Given the description of an element on the screen output the (x, y) to click on. 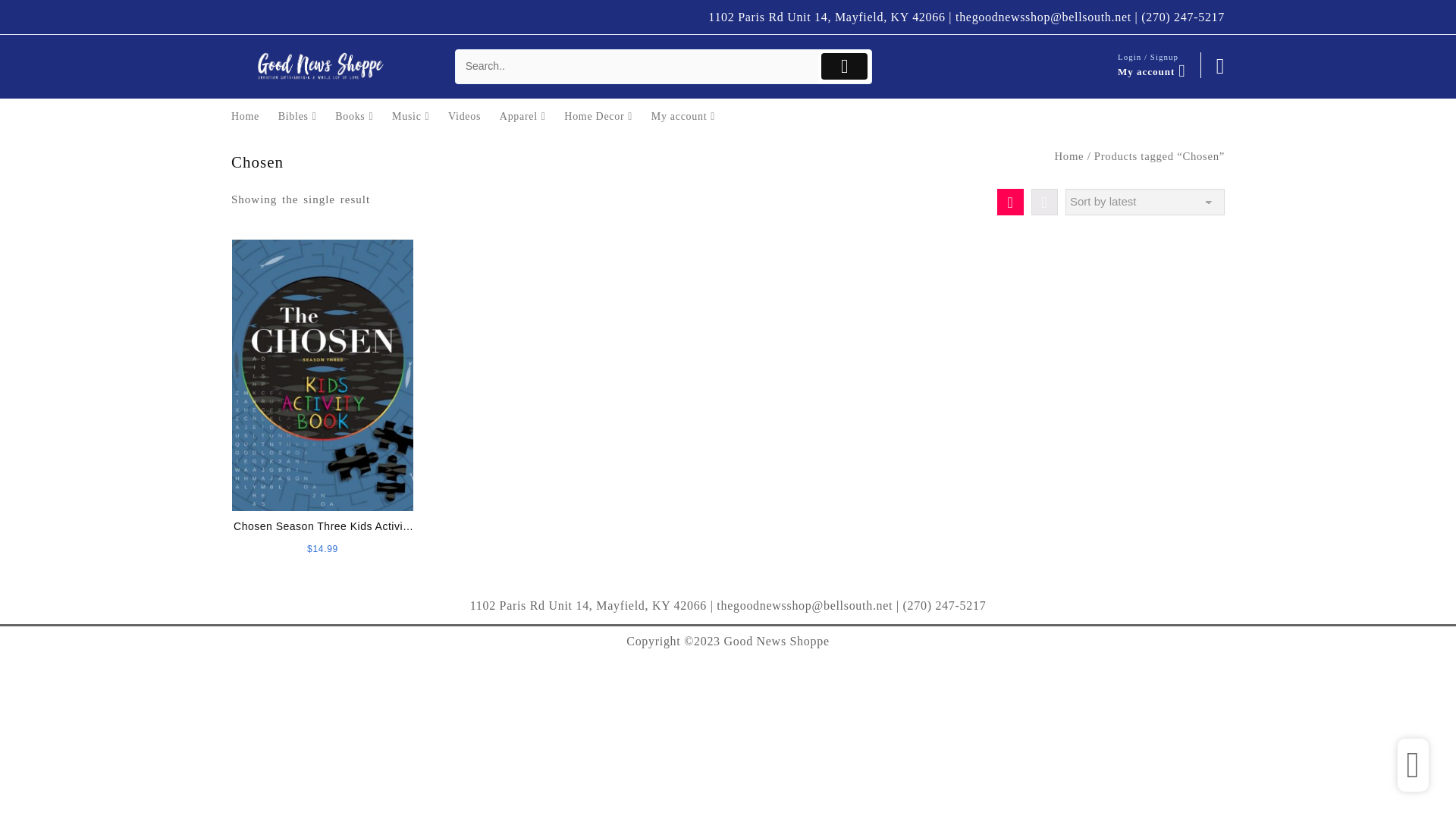
1102 Paris Rd Unit 14, Mayfield, KY 42066 (825, 16)
Search (636, 66)
Bibles (304, 116)
Submit (844, 66)
Grid View (1010, 202)
Books (361, 116)
List View (1044, 202)
Home (253, 116)
